Given the description of an element on the screen output the (x, y) to click on. 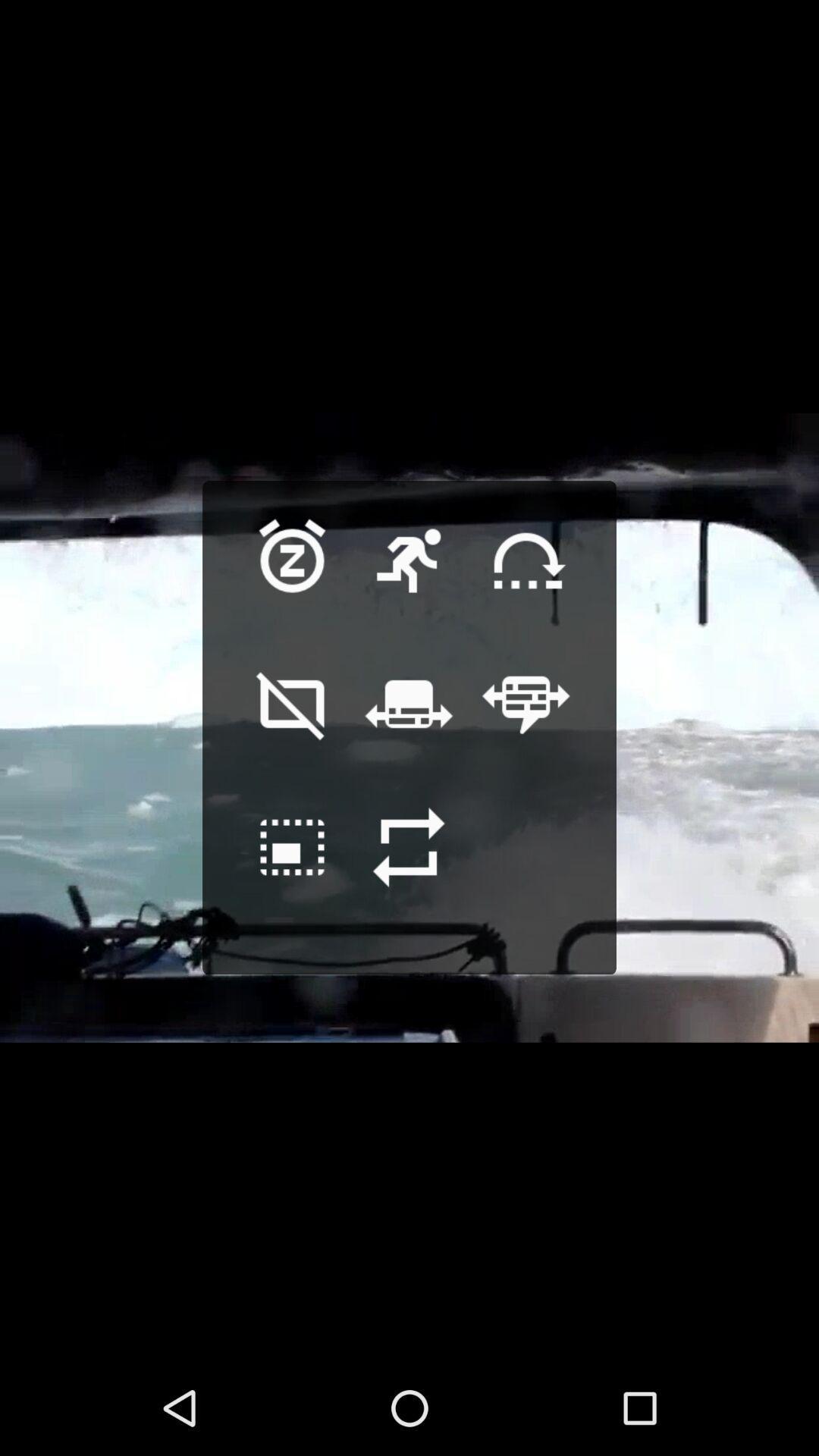
set alarm clock (292, 584)
